Given the description of an element on the screen output the (x, y) to click on. 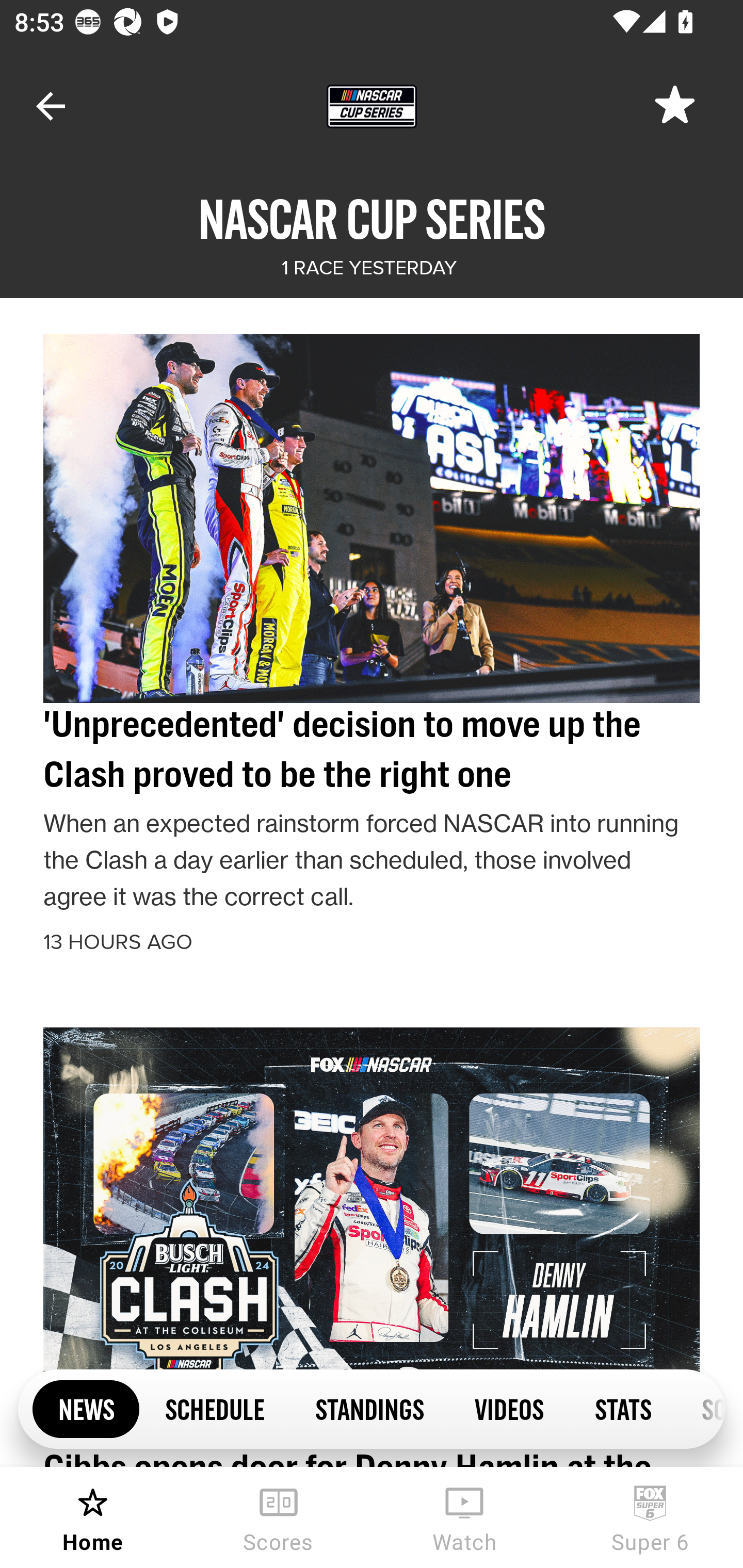
Navigate up (50, 106)
1 RACE YESTERDAY (368, 267)
SCHEDULE (214, 1408)
STANDINGS (369, 1408)
VIDEOS (509, 1408)
STATS (622, 1408)
Scores (278, 1517)
Watch (464, 1517)
Super 6 (650, 1517)
